Given the description of an element on the screen output the (x, y) to click on. 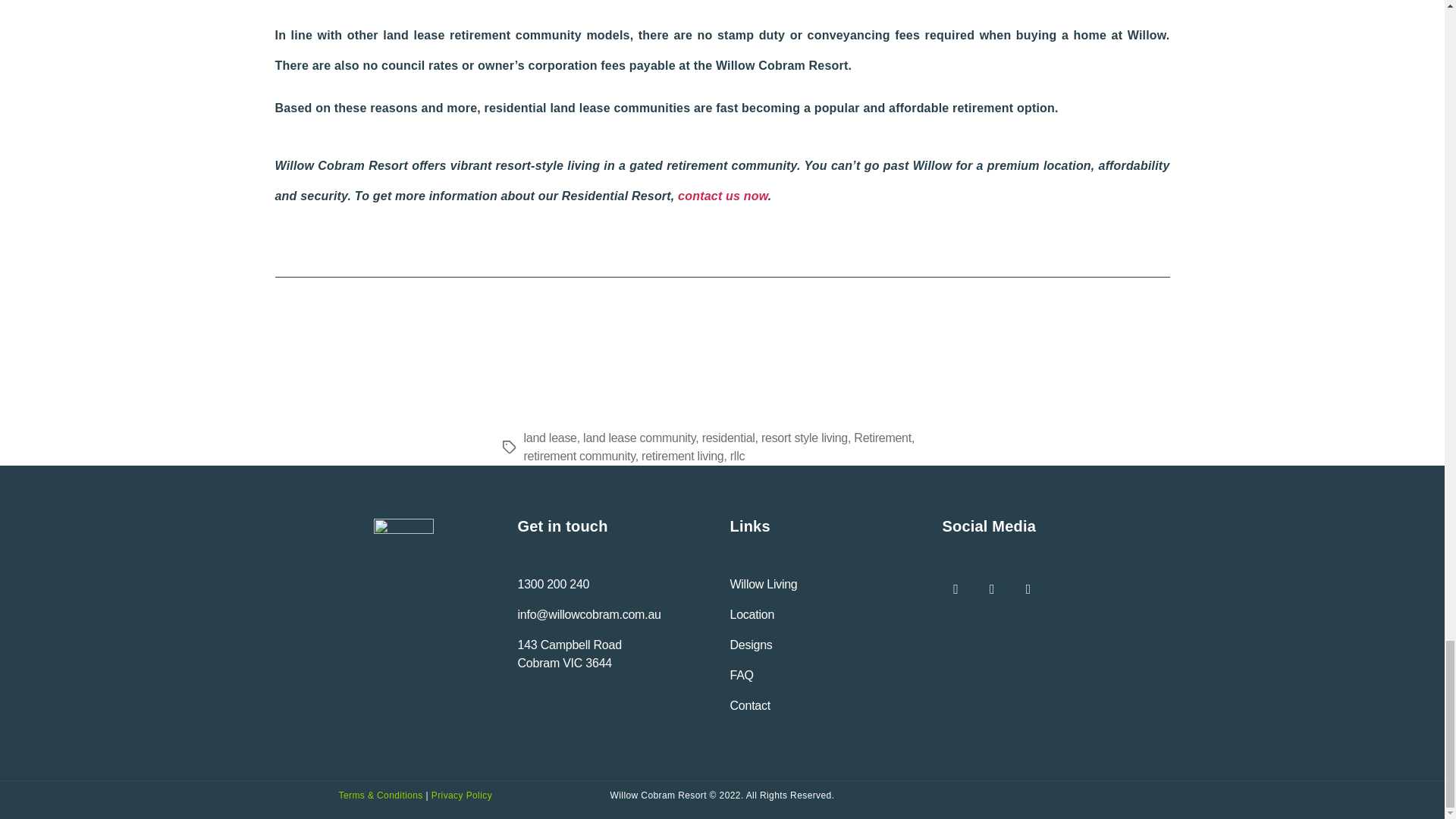
contact us now (723, 195)
Privacy Policy (461, 795)
land lease (549, 437)
Location (751, 614)
Contact (749, 705)
1300 200 240 (552, 584)
retirement living (682, 455)
Designs (750, 644)
retirement community (578, 455)
land lease community (639, 437)
resort style living (804, 437)
rllc (737, 455)
Willow Living (762, 584)
residential (728, 437)
Retirement (882, 437)
